Given the description of an element on the screen output the (x, y) to click on. 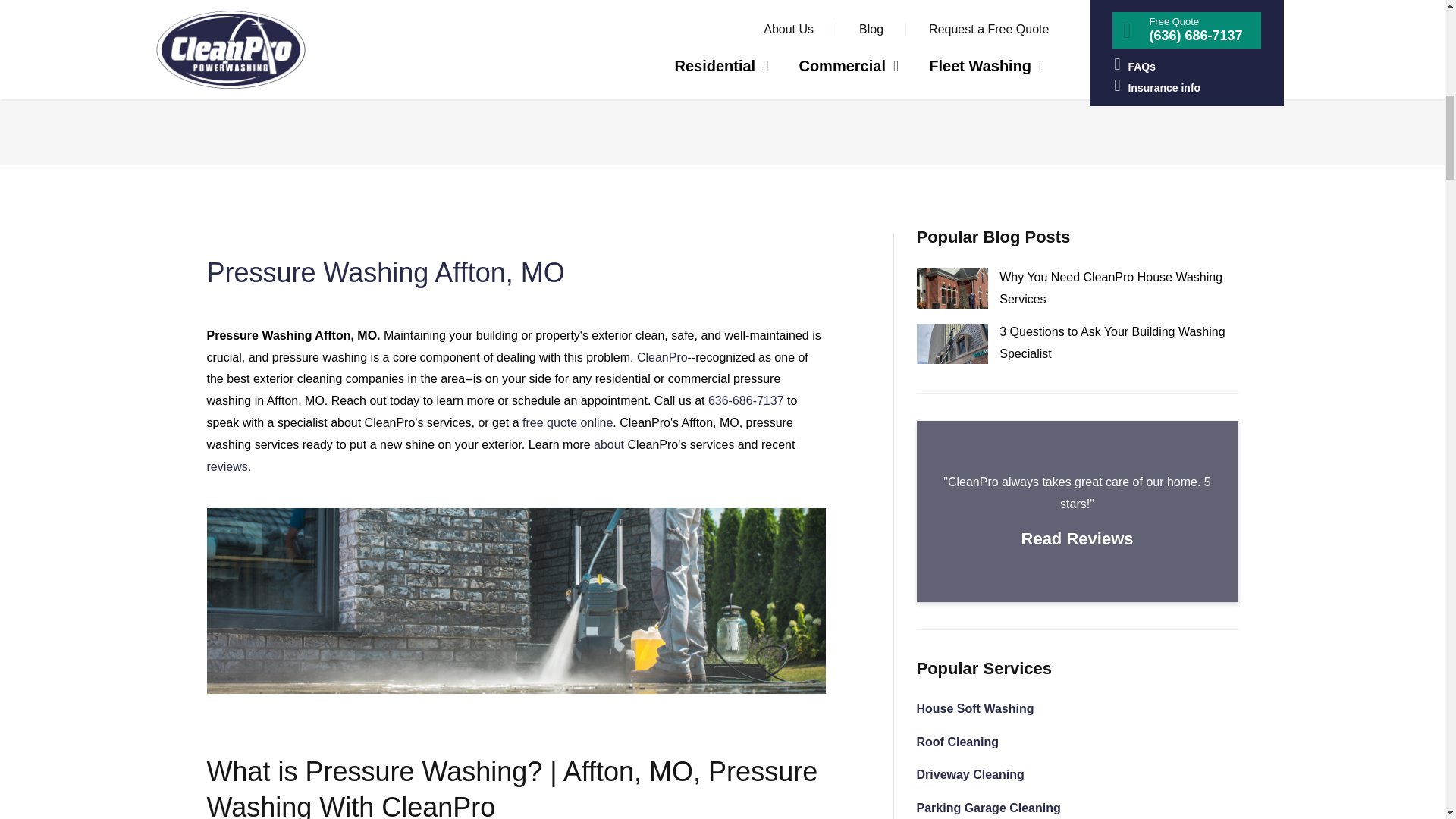
CleanPro (662, 357)
about (609, 444)
636-686-7137 (745, 400)
free quote online (567, 422)
